Given the description of an element on the screen output the (x, y) to click on. 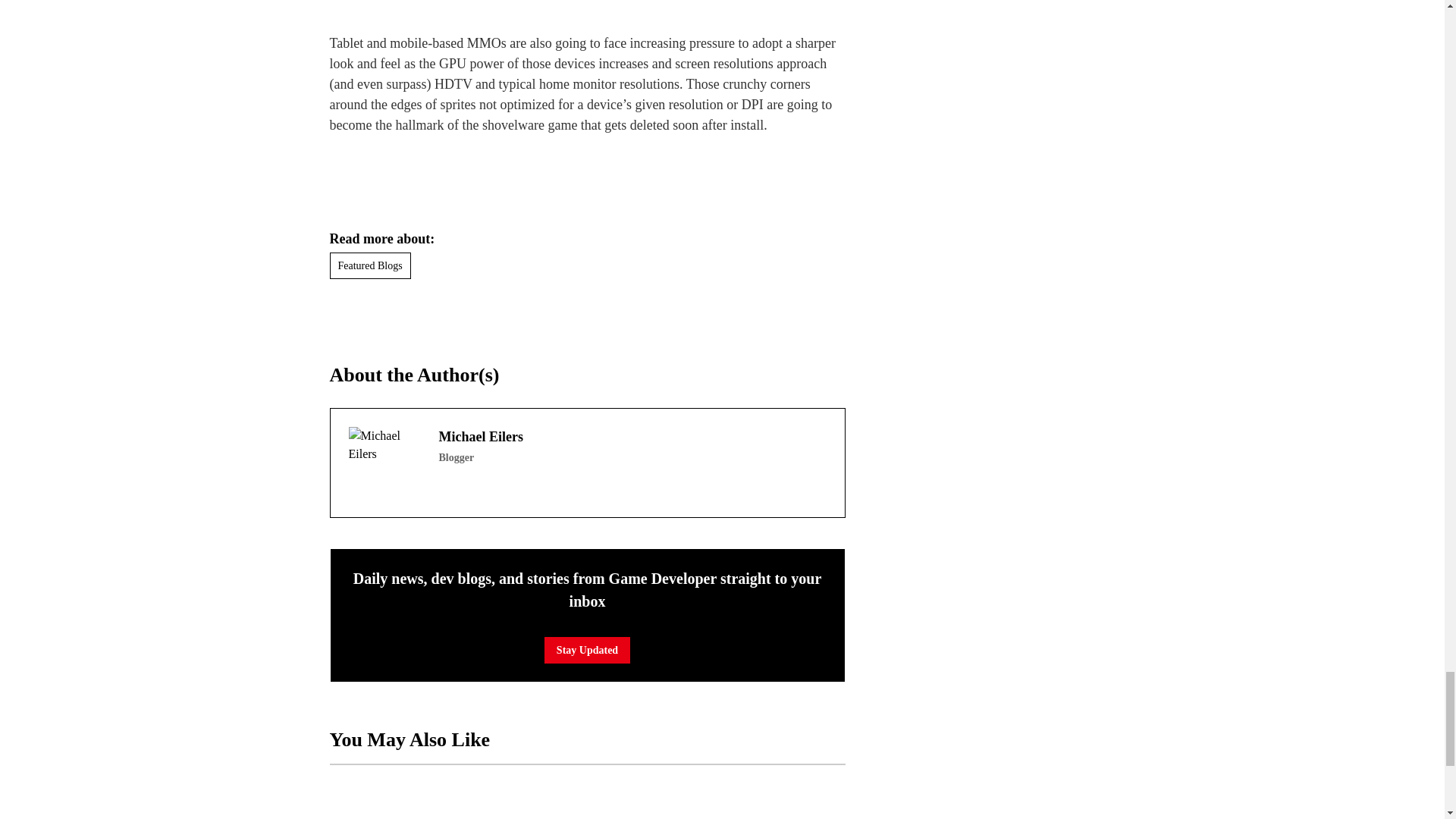
Michael Eilers (384, 462)
